Given the description of an element on the screen output the (x, y) to click on. 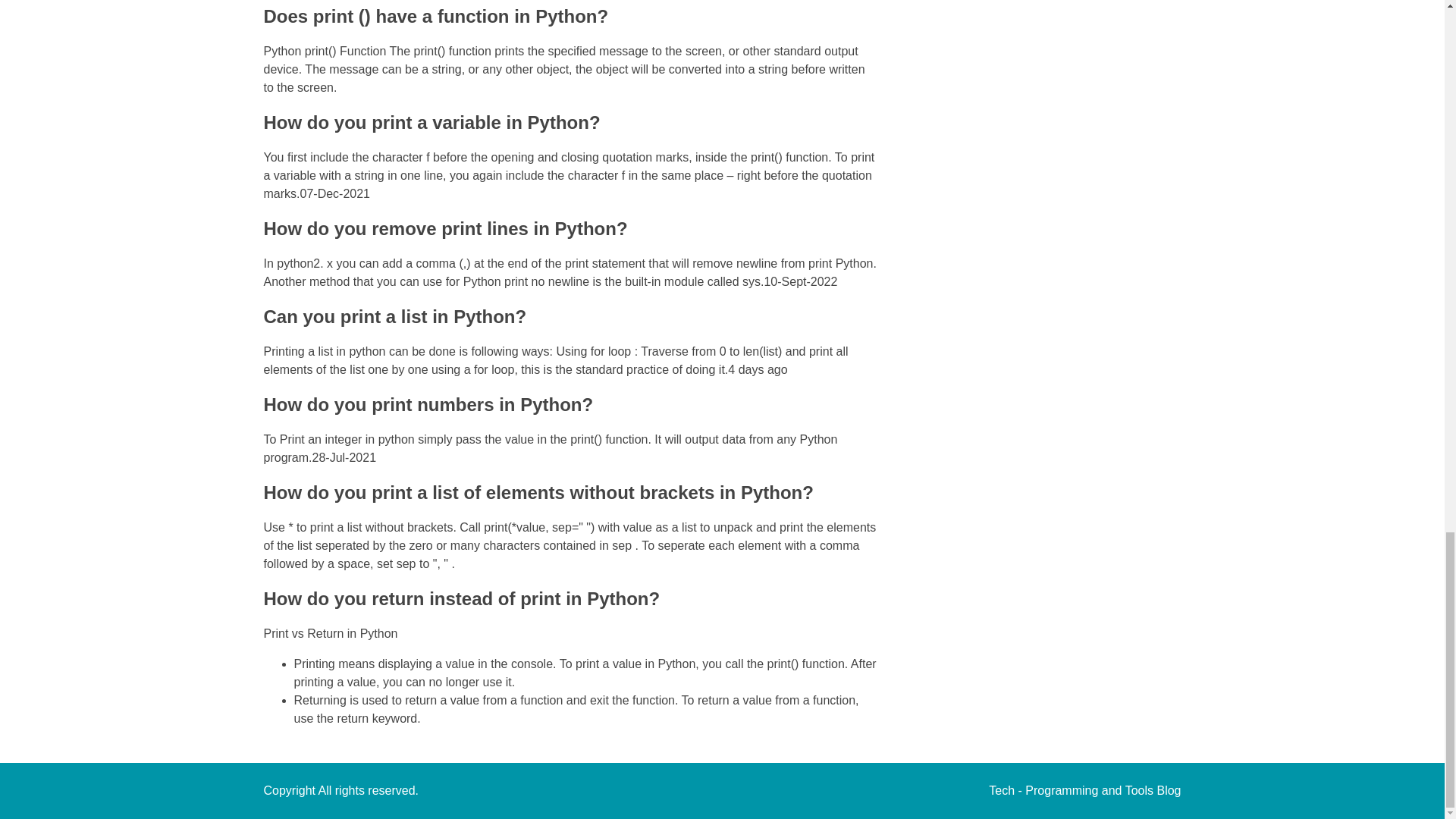
Tech - Programming and Tools Blog (1084, 790)
